Given the description of an element on the screen output the (x, y) to click on. 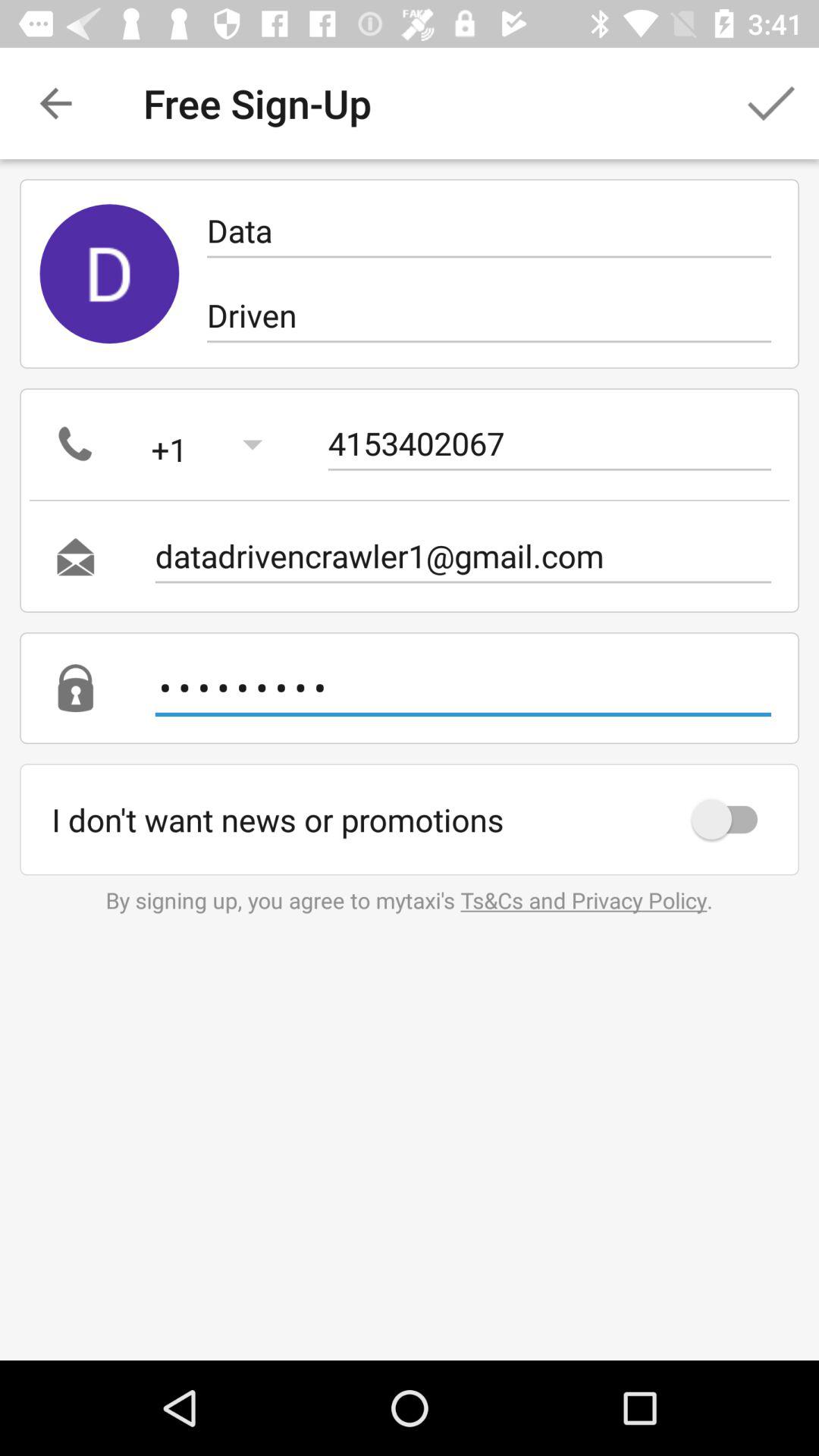
press crowd3116 (463, 687)
